Given the description of an element on the screen output the (x, y) to click on. 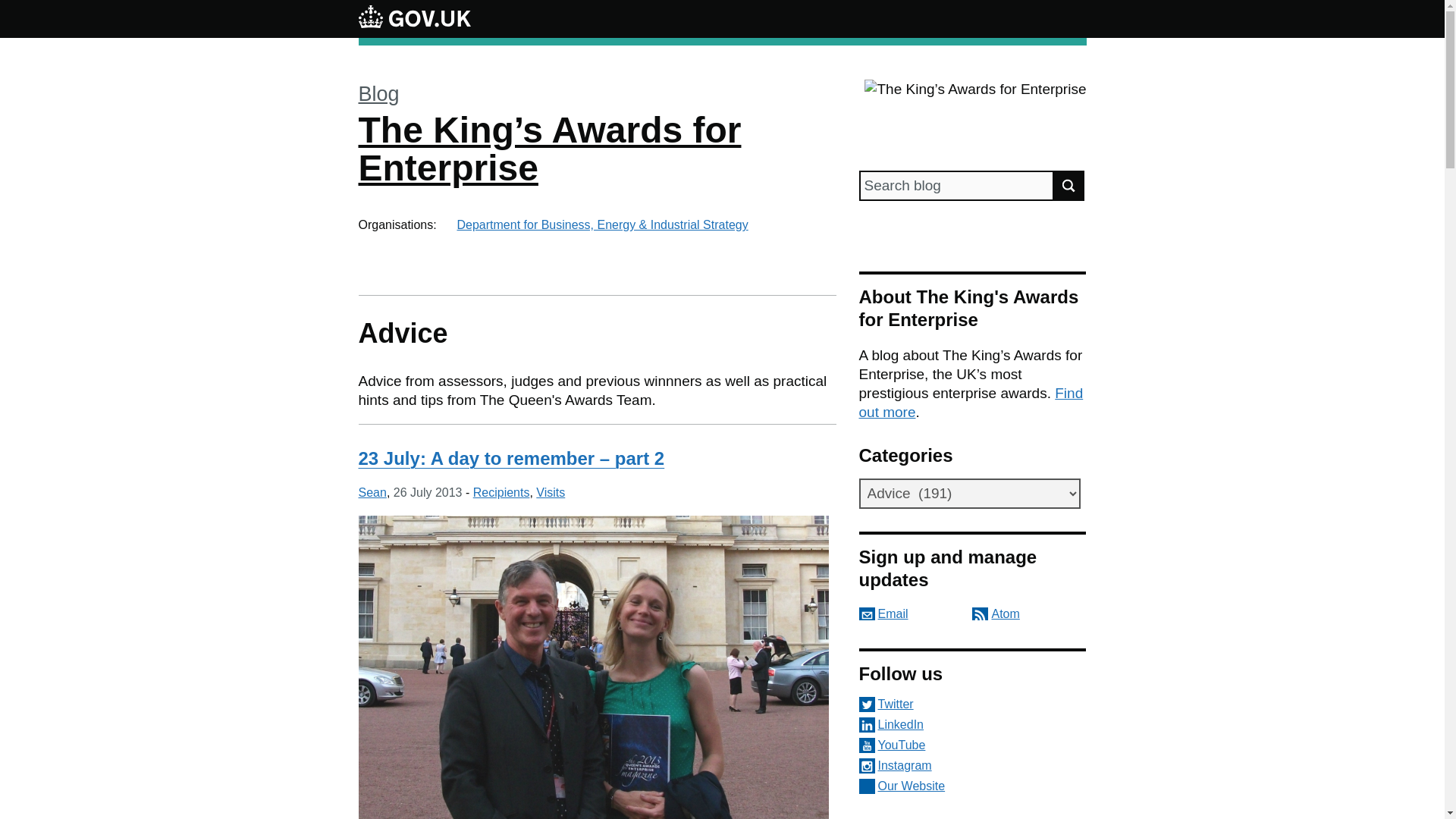
Search (1069, 185)
Go to the GOV.UK homepage (414, 18)
GOV.UK (414, 18)
Skip to main content (11, 7)
Recipients (501, 492)
Sean (371, 492)
Posts by Sean (371, 492)
GOV.UK (414, 15)
Blog (378, 93)
Visits (549, 492)
